Given the description of an element on the screen output the (x, y) to click on. 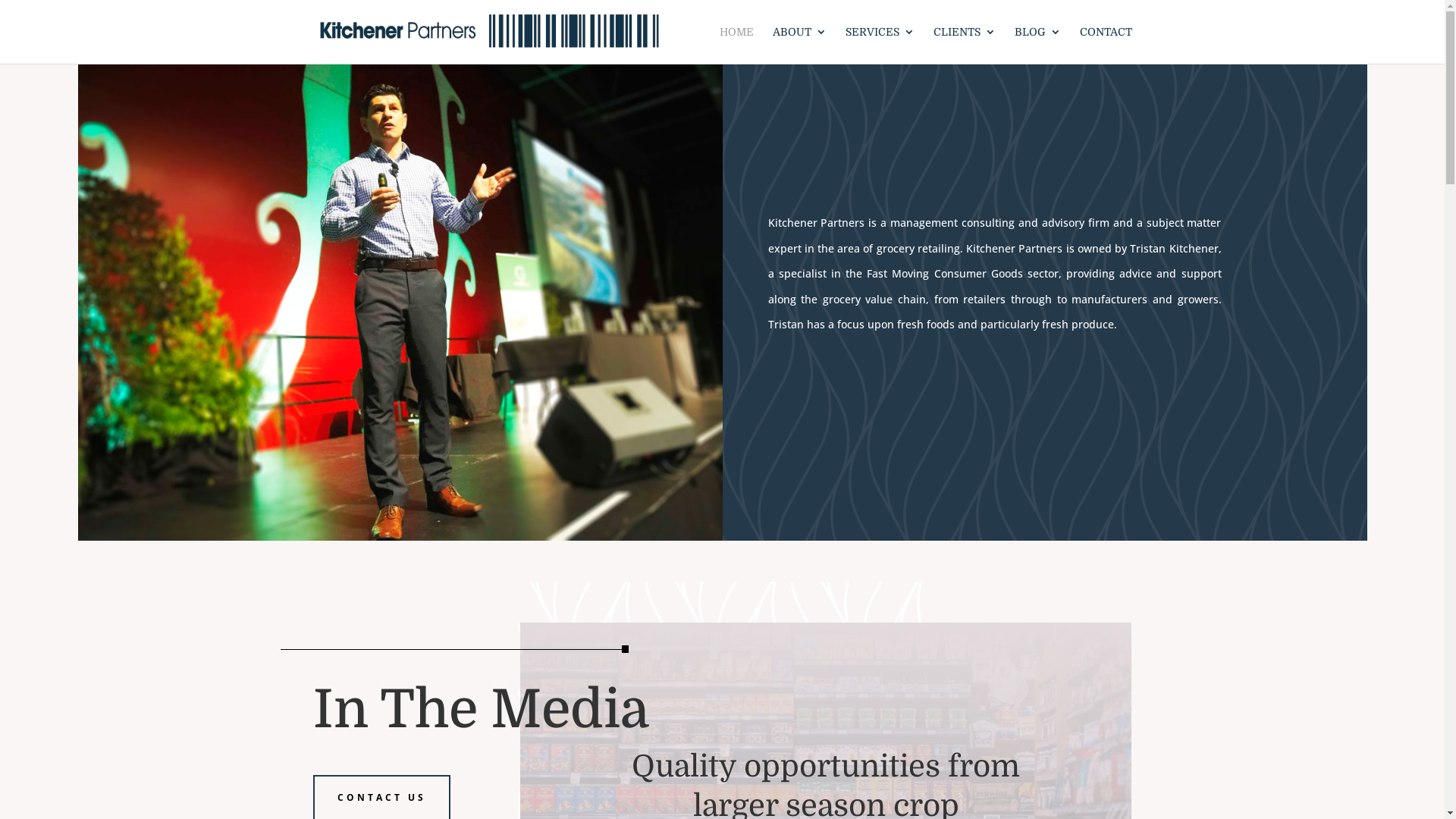
CONTACT Element type: text (1105, 44)
Home-Tristan-Kitchener Element type: hover (399, 302)
ABOUT Element type: text (798, 44)
HOME Element type: text (735, 44)
BLOG Element type: text (1037, 44)
SERVICES Element type: text (878, 44)
CLIENTS Element type: text (963, 44)
